Given the description of an element on the screen output the (x, y) to click on. 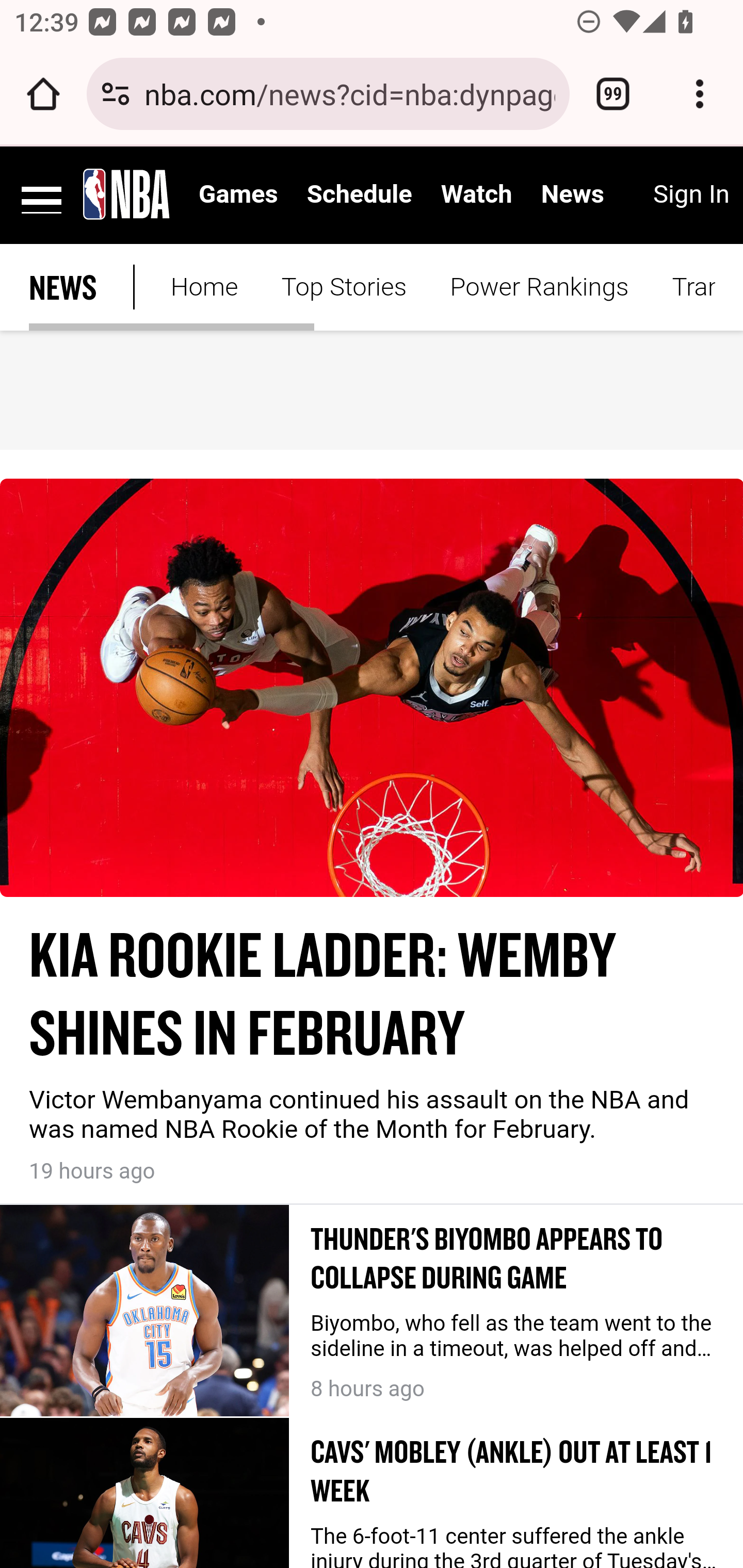
Open the home page (43, 93)
Connection is secure (115, 93)
Switch or close tabs (612, 93)
Customize and control Google Chrome (699, 93)
Games (238, 195)
Schedule (358, 195)
Watch (476, 195)
News (571, 195)
Sign In (690, 195)
NBA Logo NBA NBA Logo NBA (127, 193)
Global Navigation Toggle (42, 193)
Home (203, 286)
Top Stories (343, 286)
Power Rankings (539, 286)
8 hours ago (516, 1382)
